Given the description of an element on the screen output the (x, y) to click on. 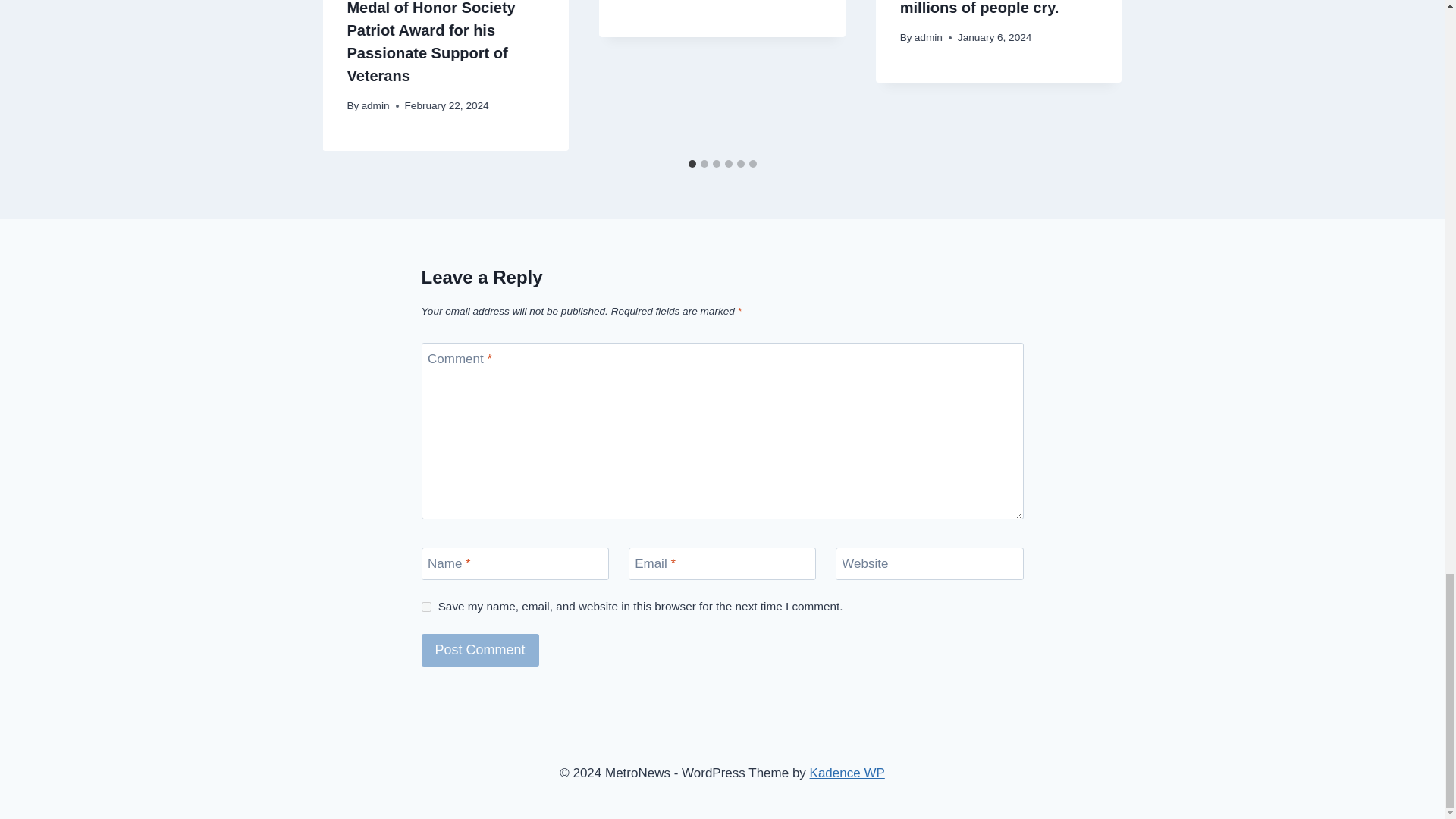
yes (426, 606)
Post Comment (480, 649)
